Given the description of an element on the screen output the (x, y) to click on. 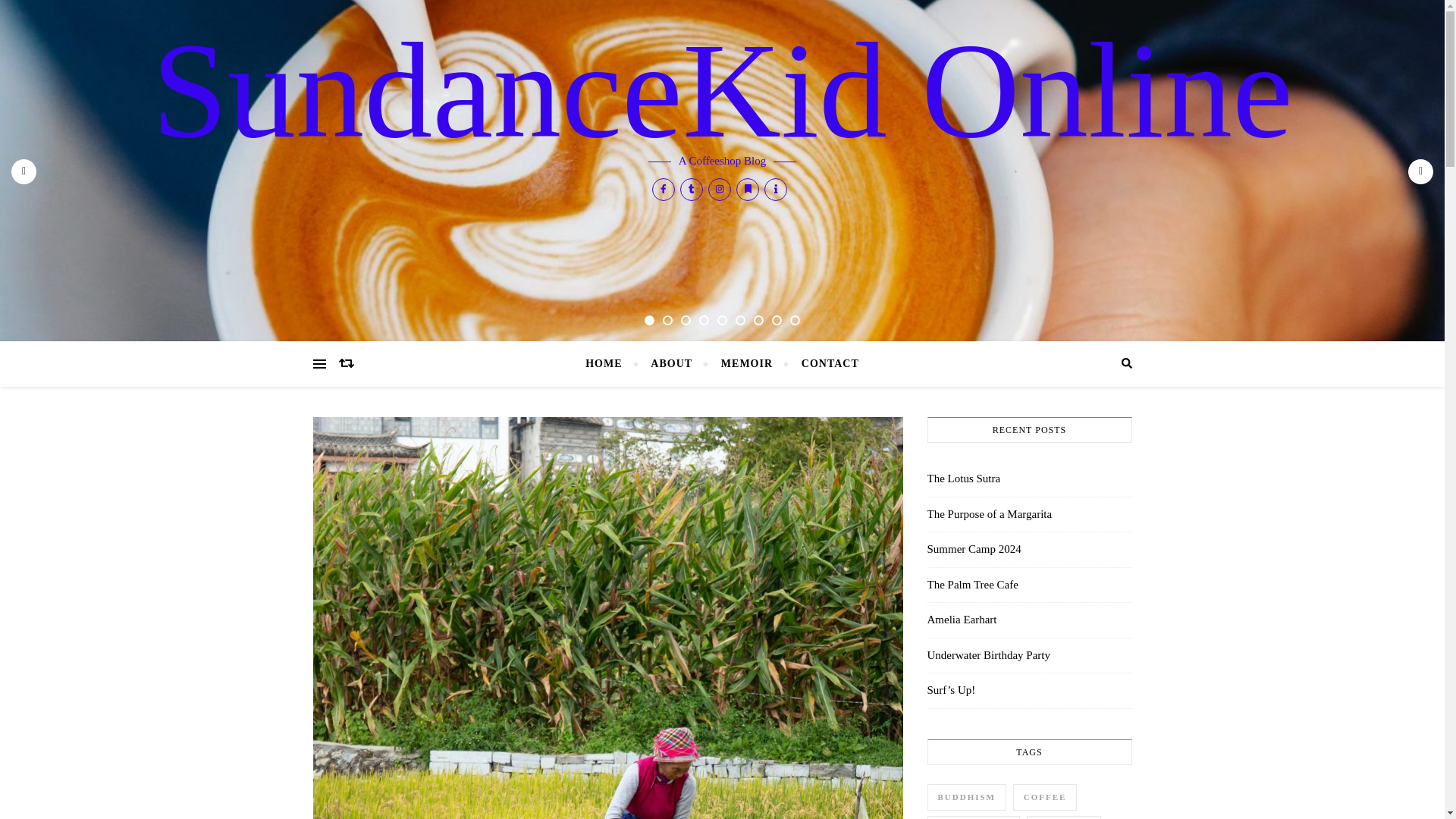
ABOUT (670, 363)
HOME (609, 363)
CONTACT (824, 363)
MEMOIR (746, 363)
